Given the description of an element on the screen output the (x, y) to click on. 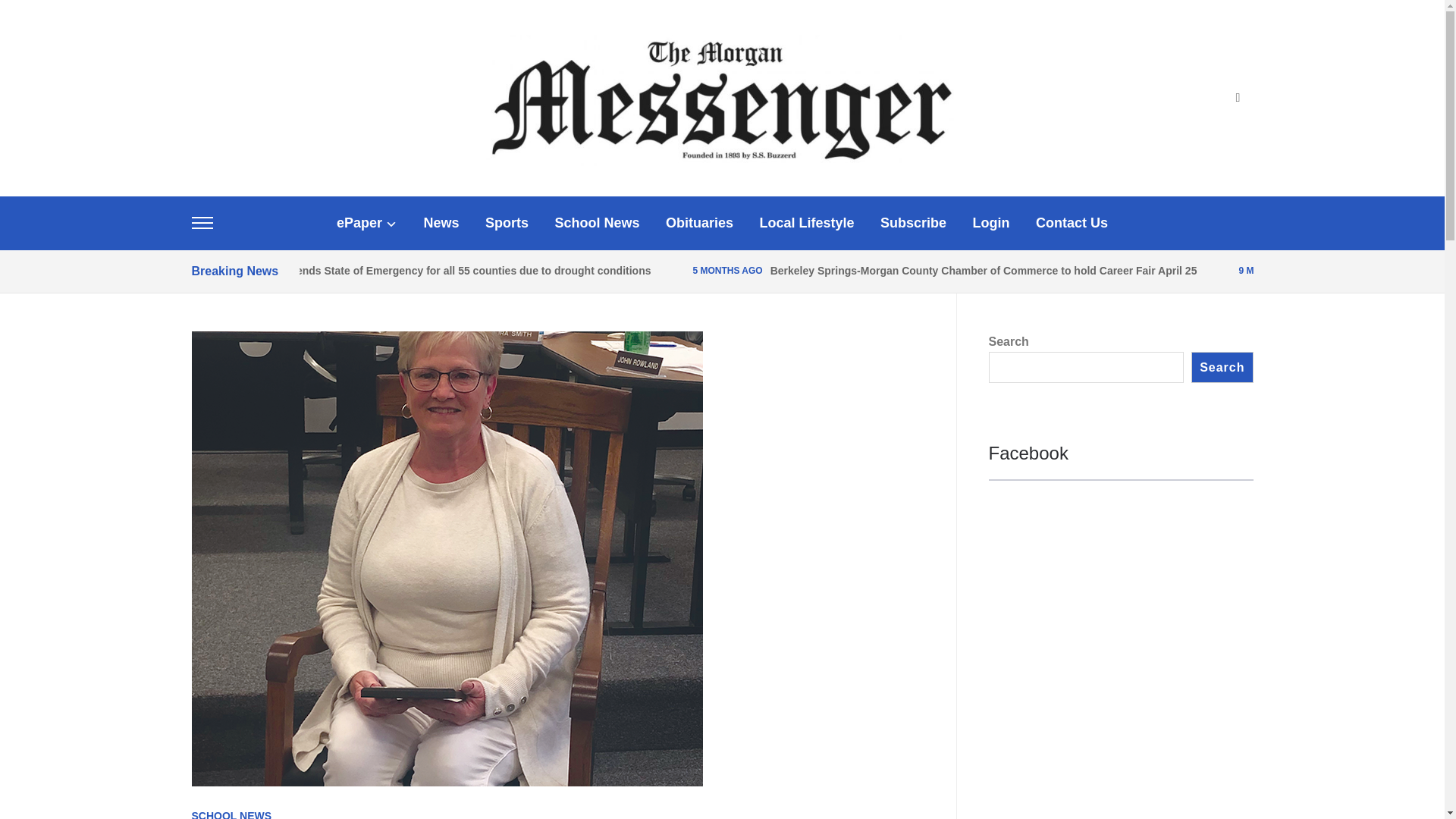
ePaper (366, 222)
Search (1237, 98)
Sports (506, 222)
News (441, 222)
